Given the description of an element on the screen output the (x, y) to click on. 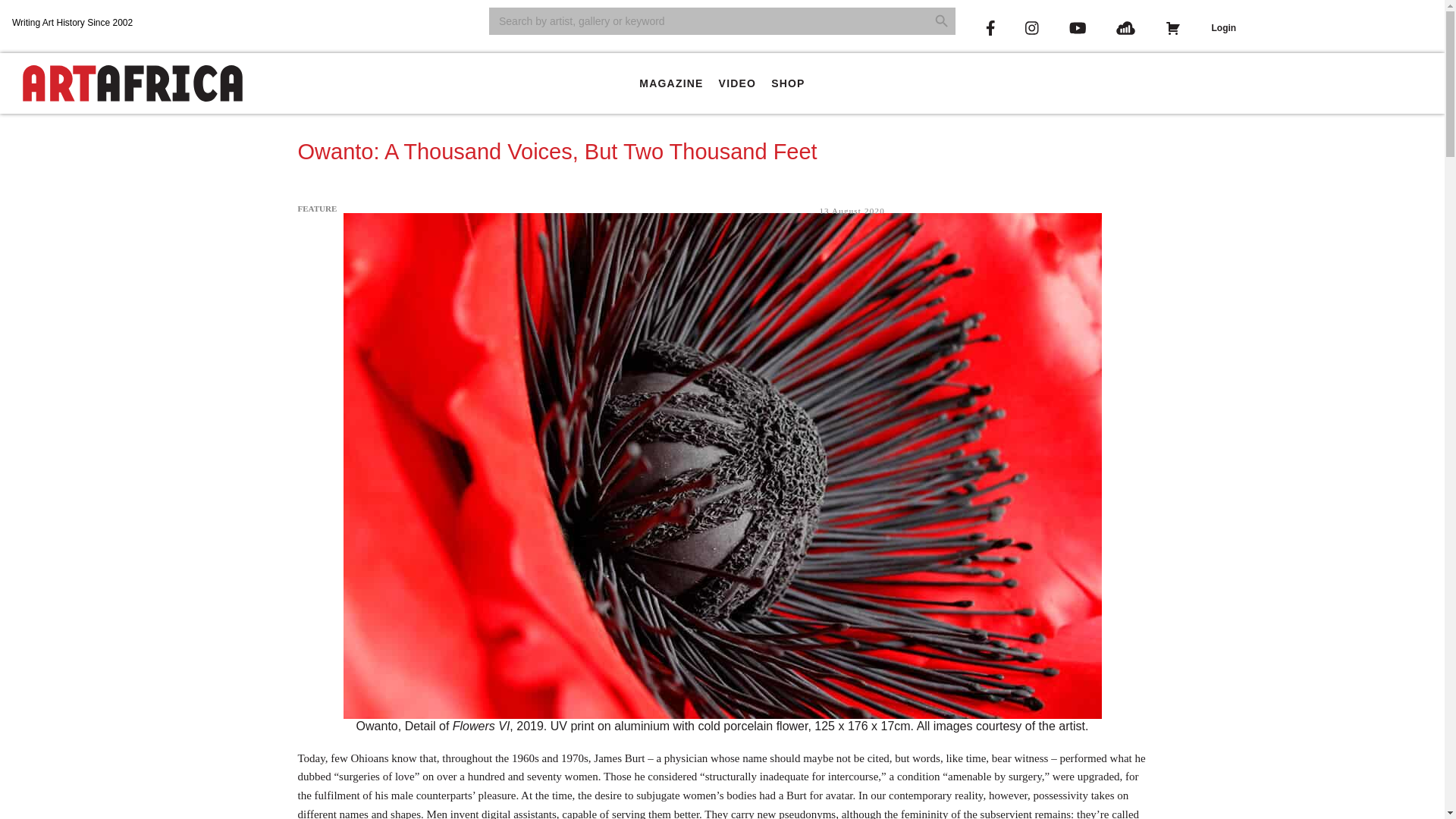
MAGAZINE (670, 83)
13 August 2020 (850, 210)
SHOP (787, 83)
FEATURE (316, 207)
Owanto: A Thousand Voices, But Two Thousand Feet (556, 151)
VIDEO (737, 83)
Search Button (941, 21)
Login (1222, 27)
